Given the description of an element on the screen output the (x, y) to click on. 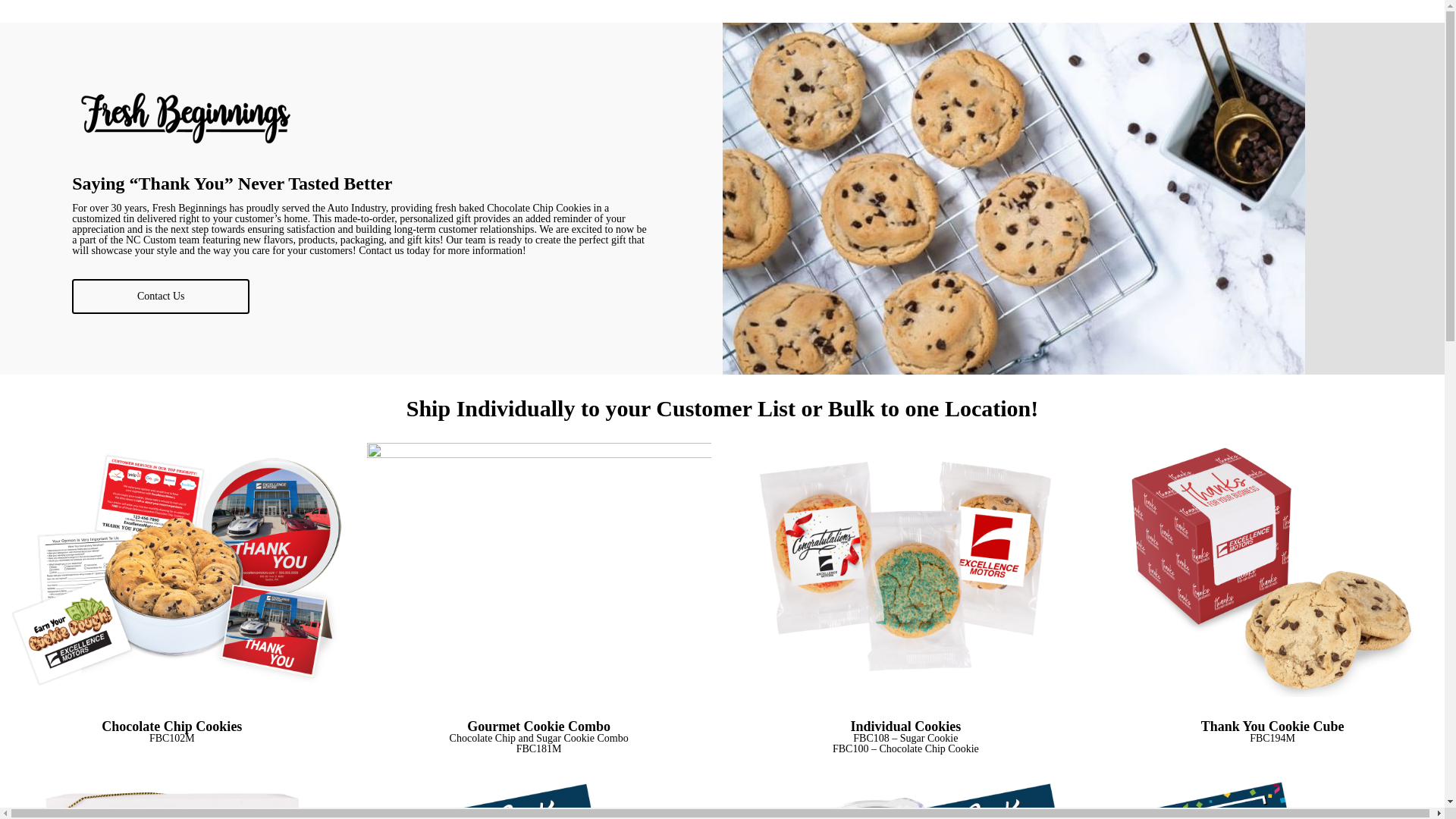
Contact Us (159, 296)
